Given the description of an element on the screen output the (x, y) to click on. 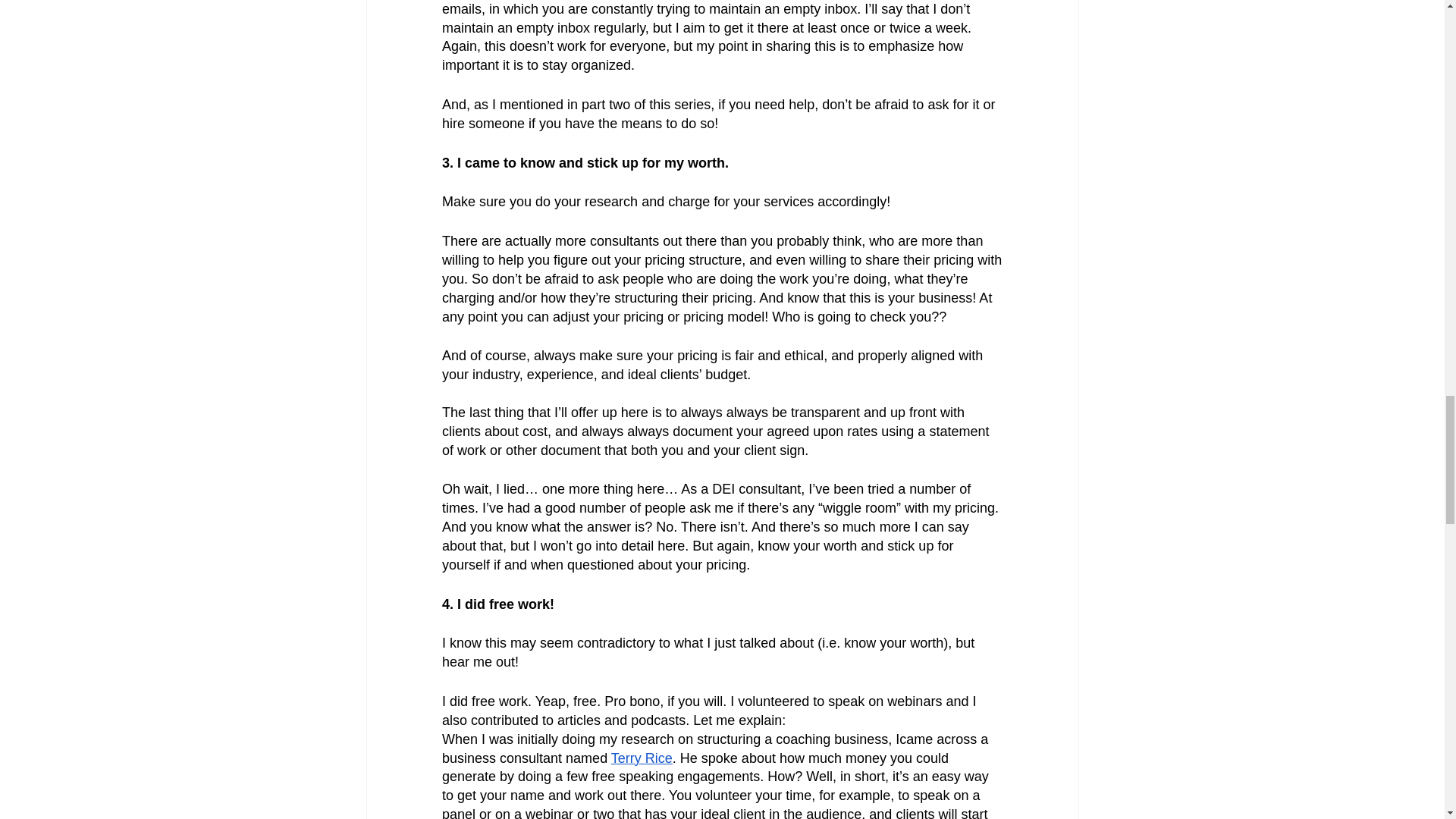
Terry Rice (640, 757)
